Given the description of an element on the screen output the (x, y) to click on. 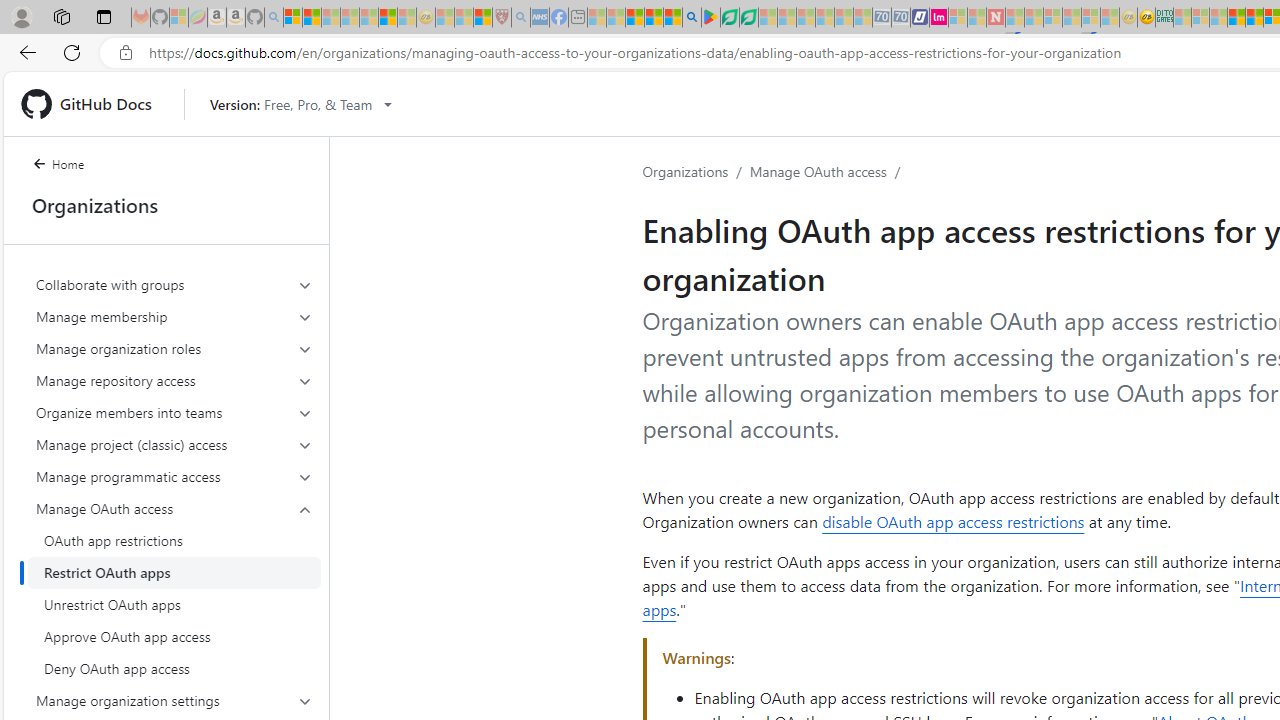
Robert H. Shmerling, MD - Harvard Health - Sleeping (501, 17)
Pets - MSN (654, 17)
Approve OAuth app access (174, 636)
Trusted Community Engagement and Contributions | Guidelines (1014, 17)
Microsoft Word - consumer-privacy address update 2.2021 (748, 17)
Manage OAuth access (174, 588)
Deny OAuth app access (174, 668)
Jobs - lastminute.com Investor Portal (939, 17)
Kinda Frugal - MSN (1254, 17)
Manage repository access (174, 380)
Organizations/ (696, 171)
Manage programmatic access (174, 476)
